Given the description of an element on the screen output the (x, y) to click on. 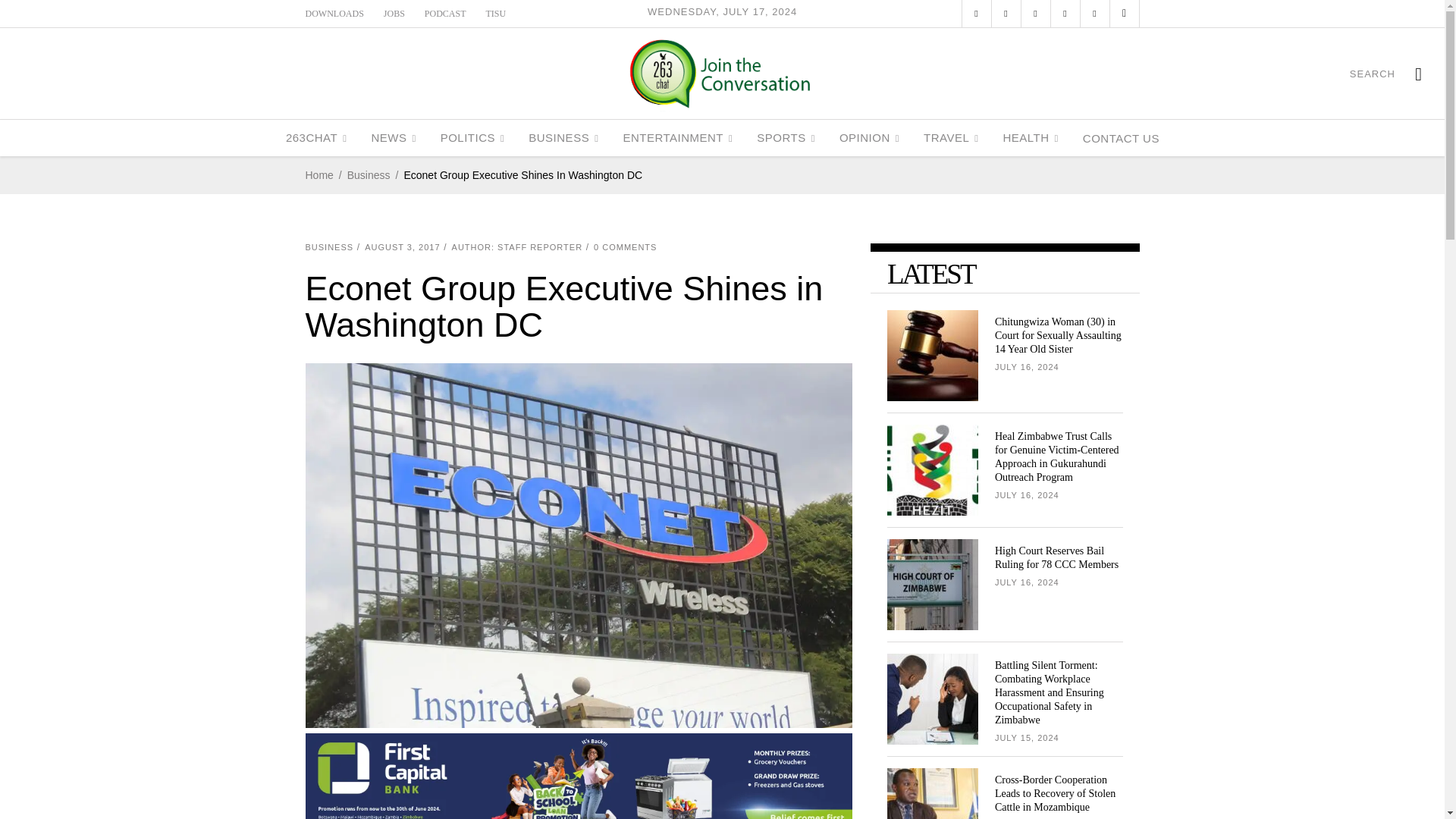
JOBS (394, 13)
PODCAST (445, 13)
TISU (496, 13)
POLITICS (472, 137)
DOWNLOADS (333, 13)
NEWS (393, 137)
263CHAT (316, 137)
